Given the description of an element on the screen output the (x, y) to click on. 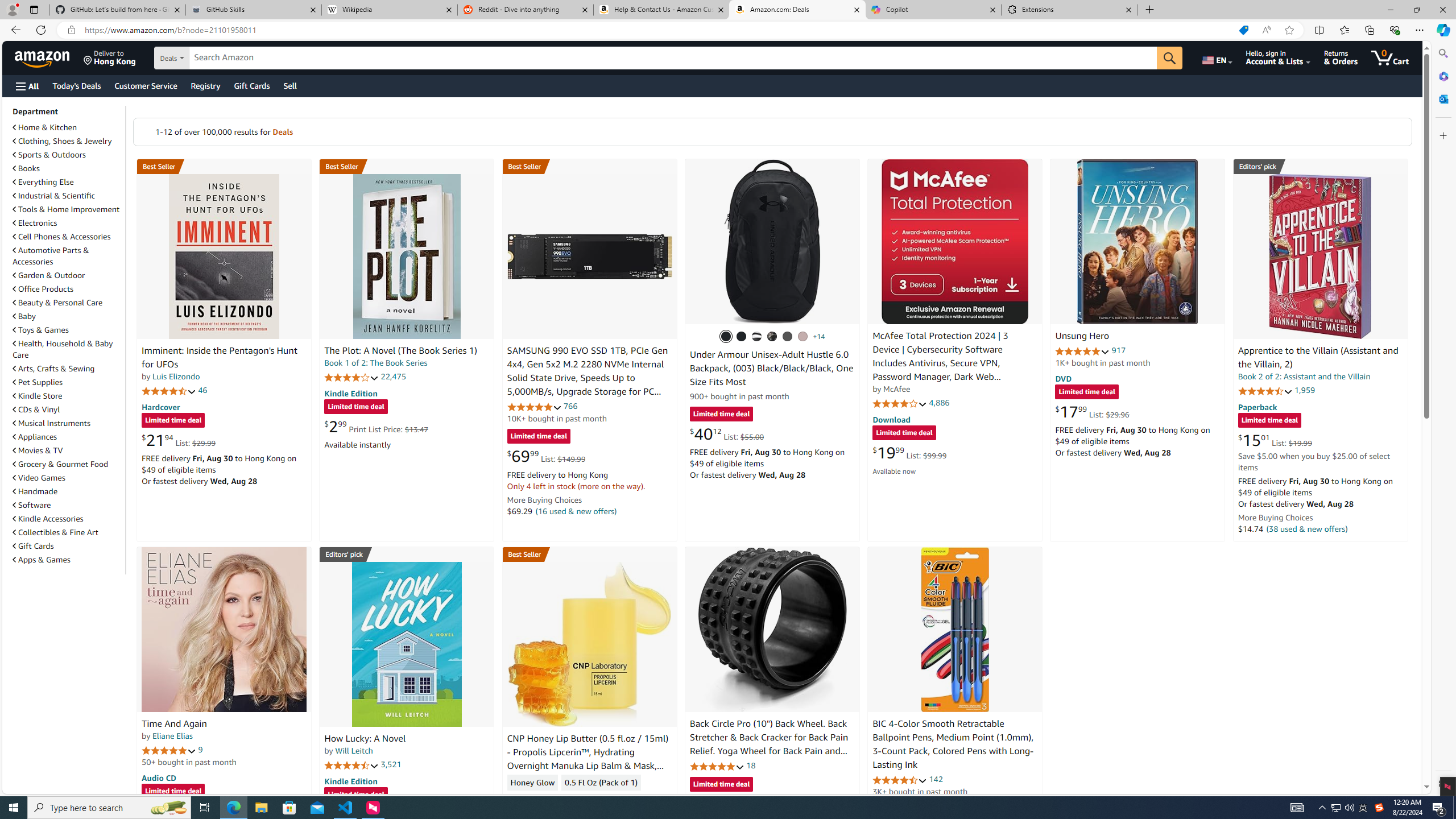
Software (67, 505)
Editors' pick Best Mystery, Thriller & Suspense (406, 553)
Best Seller in Heist Thrillers (406, 165)
Open Menu (26, 86)
Best Seller in Internal Solid State Drives (589, 165)
How Lucky: A Novel (405, 644)
Collectibles & Fine Art (67, 532)
Amazon (43, 57)
Hello, sign in Account & Lists (1278, 57)
(001) Black / Black / Metallic Gold (741, 336)
Collectibles & Fine Art (56, 532)
Industrial & Scientific (67, 195)
